Given the description of an element on the screen output the (x, y) to click on. 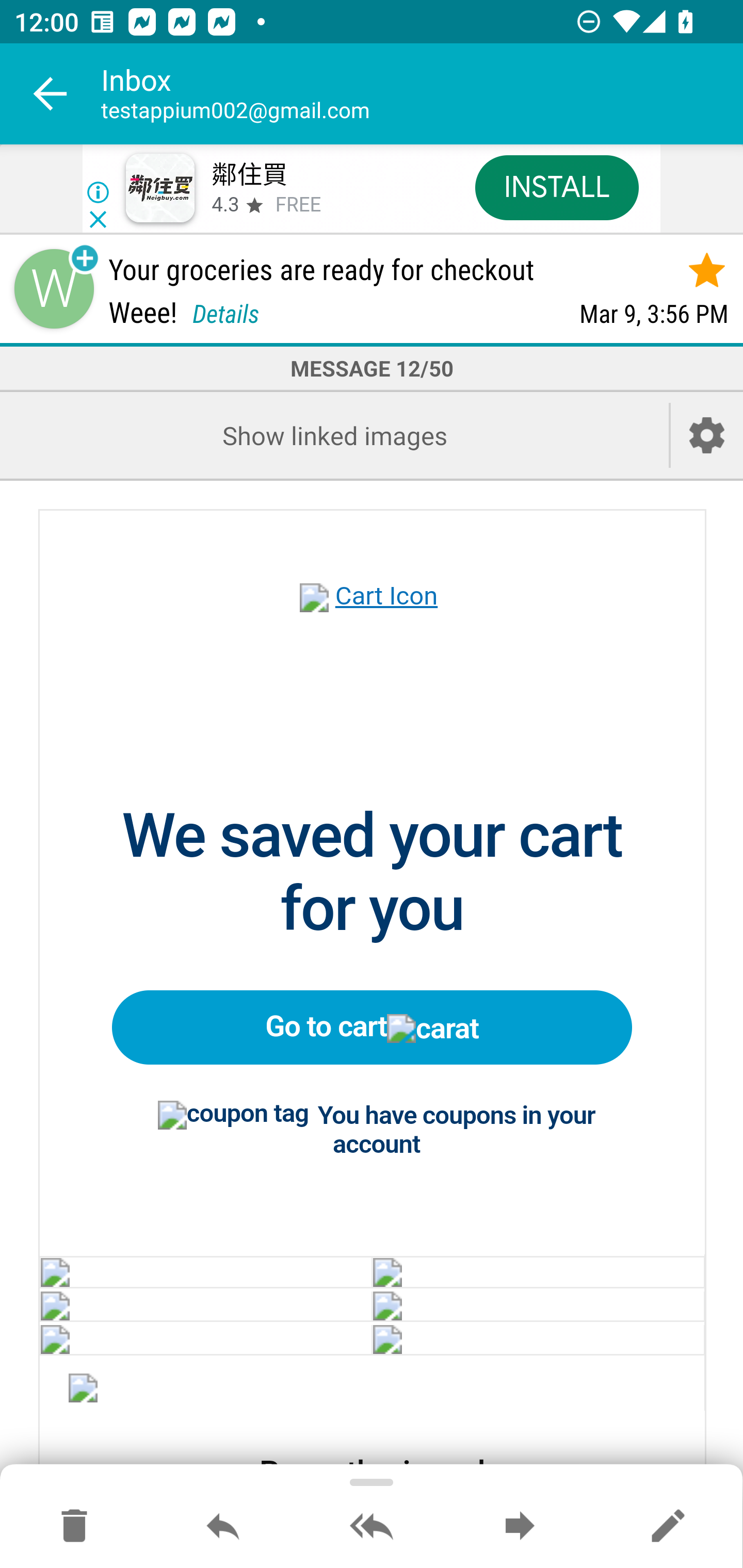
Navigate up (50, 93)
Inbox testappium002@gmail.com (422, 93)
INSTALL (556, 187)
鄰住買 (249, 175)
Sender contact button (53, 289)
Show linked images (334, 435)
Account setup (706, 435)
click?upn=u001 (372, 619)
click?upn=u001 (408, 1026)
data: (205, 1271)
data: (538, 1271)
data: (205, 1305)
data: (538, 1305)
data: (205, 1338)
data: (538, 1338)
data: (83, 1390)
Move to Deleted (74, 1527)
Reply (222, 1527)
Reply all (371, 1527)
Forward (519, 1527)
Reply as new (667, 1527)
